Given the description of an element on the screen output the (x, y) to click on. 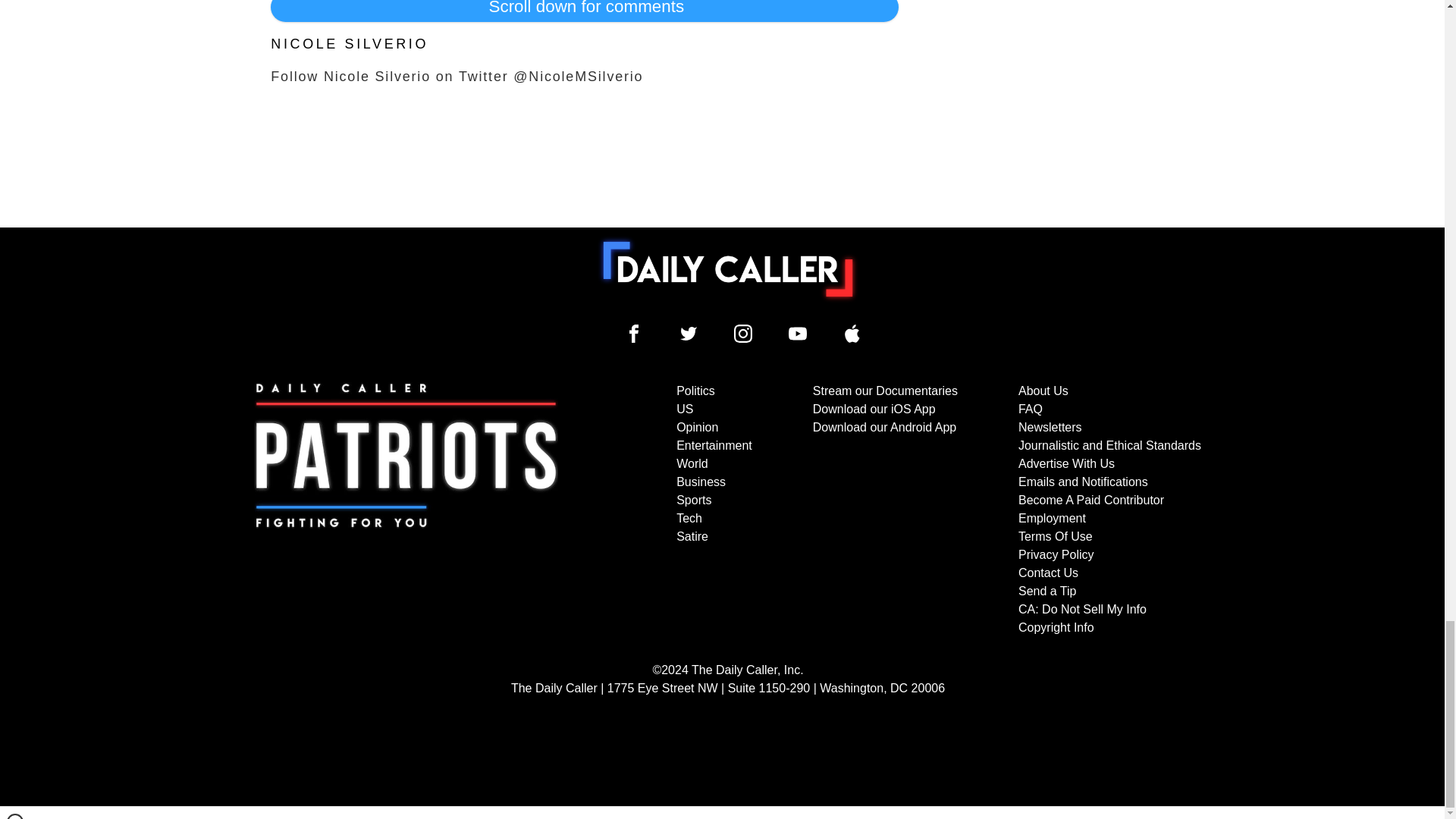
Daily Caller YouTube (852, 333)
Scroll down for comments (584, 10)
Daily Caller YouTube (797, 333)
Daily Caller Twitter (688, 333)
To home page (727, 268)
Daily Caller Facebook (633, 333)
Subscribe to The Daily Caller (405, 509)
Daily Caller Instagram (742, 333)
